Given the description of an element on the screen output the (x, y) to click on. 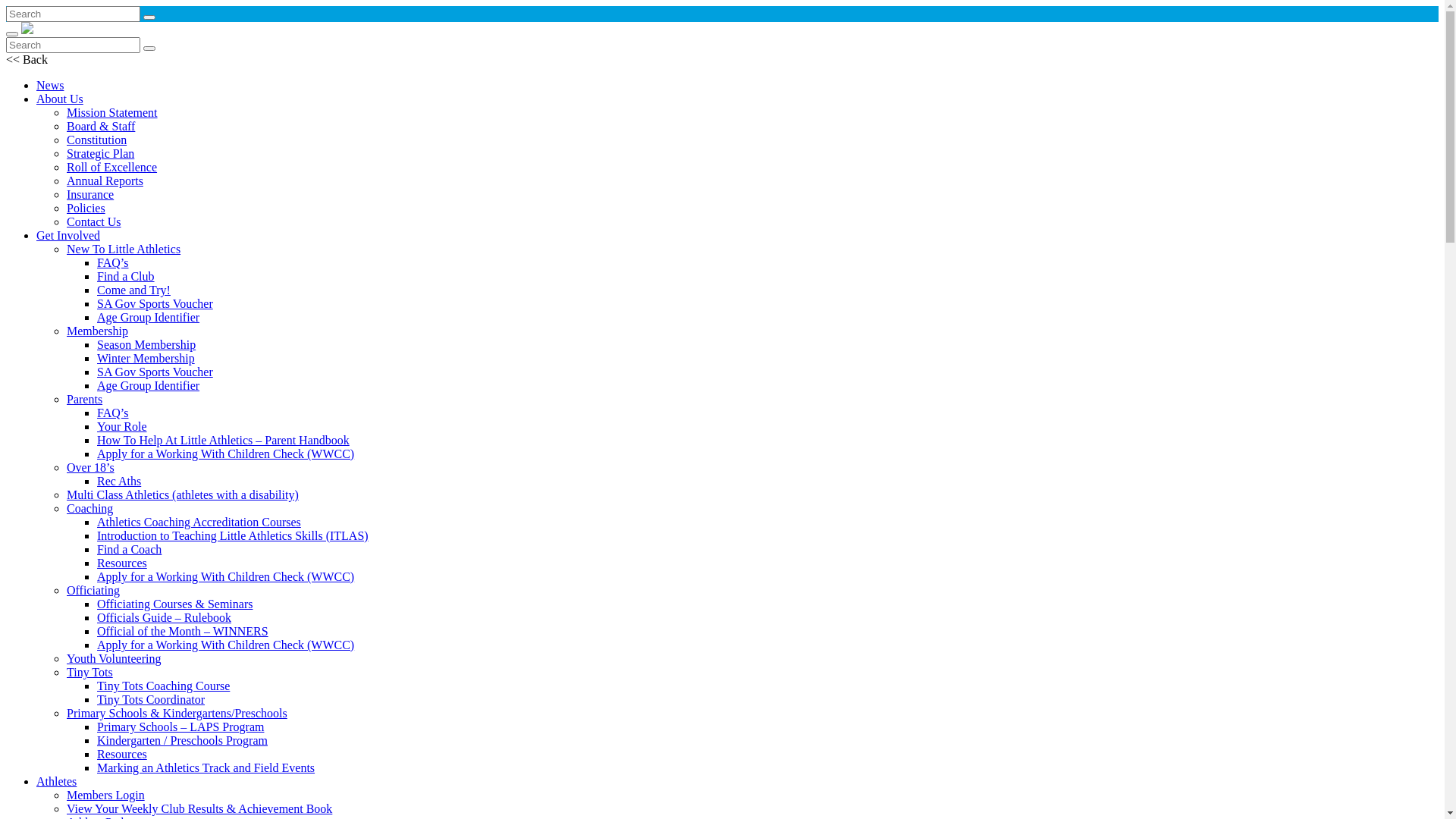
Multi Class Athletics (athletes with a disability) Element type: text (182, 494)
Mission Statement Element type: text (111, 112)
Annual Reports Element type: text (104, 180)
Membership Element type: text (97, 330)
Resources Element type: text (122, 753)
Find a Club Element type: text (125, 275)
Tiny Tots Coordinator Element type: text (150, 699)
Constitution Element type: text (96, 139)
Board & Staff Element type: text (100, 125)
Apply for a Working With Children Check (WWCC) Element type: text (225, 453)
Find a Coach Element type: text (129, 548)
New To Little Athletics Element type: text (123, 248)
Marking an Athletics Track and Field Events Element type: text (205, 767)
Apply for a Working With Children Check (WWCC) Element type: text (225, 644)
Primary Schools & Kindergartens/Preschools Element type: text (176, 712)
Apply for a Working With Children Check (WWCC) Element type: text (225, 576)
Age Group Identifier Element type: text (148, 385)
Youth Volunteering Element type: text (113, 658)
SA Gov Sports Voucher Element type: text (155, 371)
Contact Us Element type: text (93, 221)
Members Login Element type: text (105, 794)
Officiating Courses & Seminars Element type: text (174, 603)
Rec Aths Element type: text (119, 480)
Tiny Tots Coaching Course Element type: text (163, 685)
Strategic Plan Element type: text (100, 153)
Policies Element type: text (85, 207)
Tiny Tots Element type: text (89, 671)
Parents Element type: text (84, 398)
Insurance Element type: text (89, 194)
Come and Try! Element type: text (133, 289)
Athletics Coaching Accreditation Courses Element type: text (199, 521)
Coaching Element type: text (89, 508)
About Us Element type: text (59, 98)
Introduction to Teaching Little Athletics Skills (ITLAS) Element type: text (232, 535)
Season Membership Element type: text (146, 344)
Age Group Identifier Element type: text (148, 316)
Your Role Element type: text (122, 426)
Resources Element type: text (122, 562)
Officiating Element type: text (92, 589)
Winter Membership Element type: text (145, 357)
Kindergarten / Preschools Program Element type: text (182, 740)
Athletes Element type: text (56, 781)
Roll of Excellence Element type: text (111, 166)
Get Involved Element type: text (68, 235)
SA Gov Sports Voucher Element type: text (155, 303)
News Element type: text (49, 84)
View Your Weekly Club Results & Achievement Book Element type: text (199, 808)
